Given the description of an element on the screen output the (x, y) to click on. 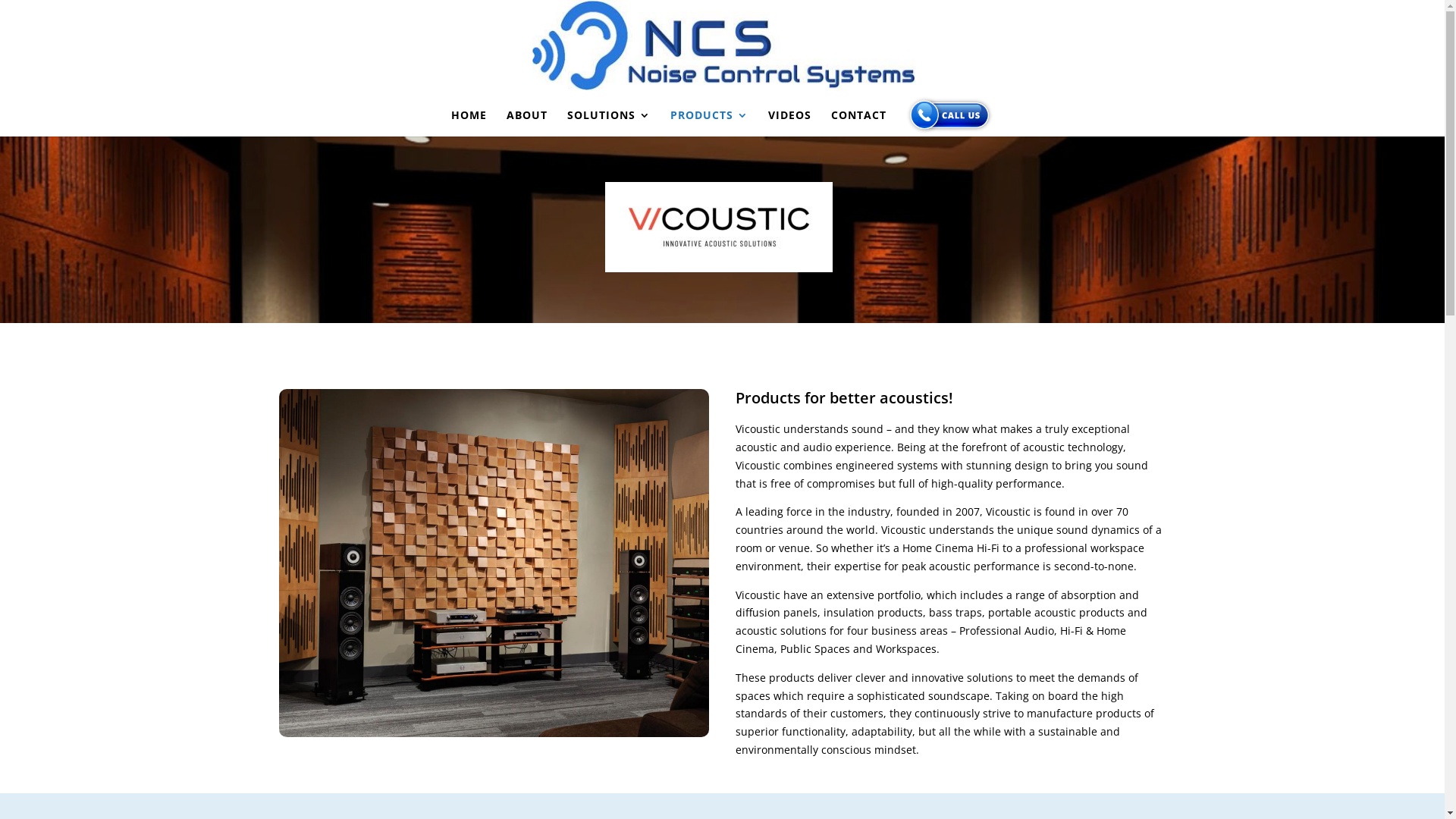
SOLUTIONS Element type: text (608, 122)
CONTACT Element type: text (858, 122)
VIDEOS Element type: text (789, 122)
PRODUCTS Element type: text (709, 122)
ABOUT Element type: text (526, 122)
HOME Element type: text (468, 122)
